Given the description of an element on the screen output the (x, y) to click on. 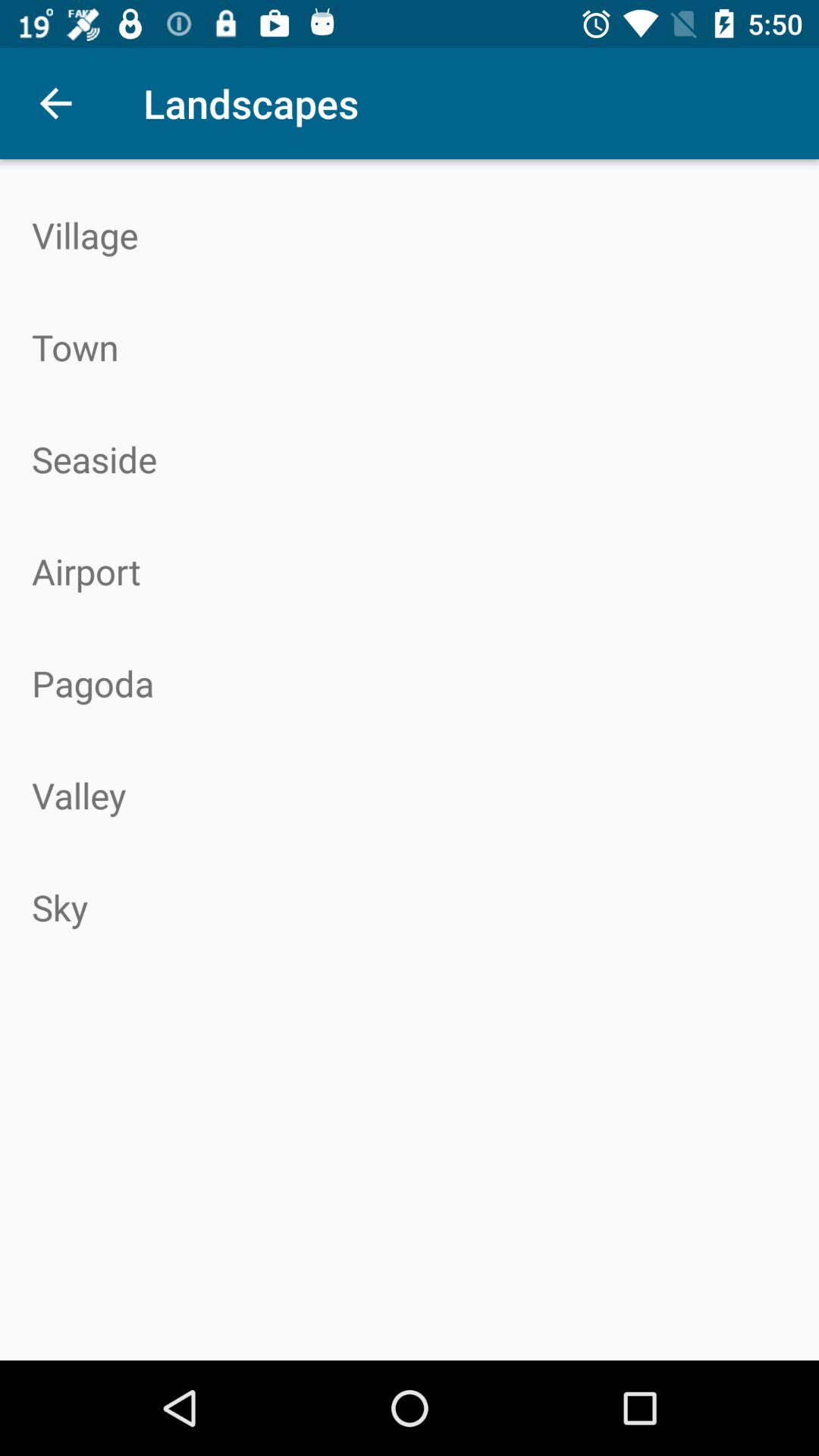
tap the icon below valley icon (409, 907)
